Given the description of an element on the screen output the (x, y) to click on. 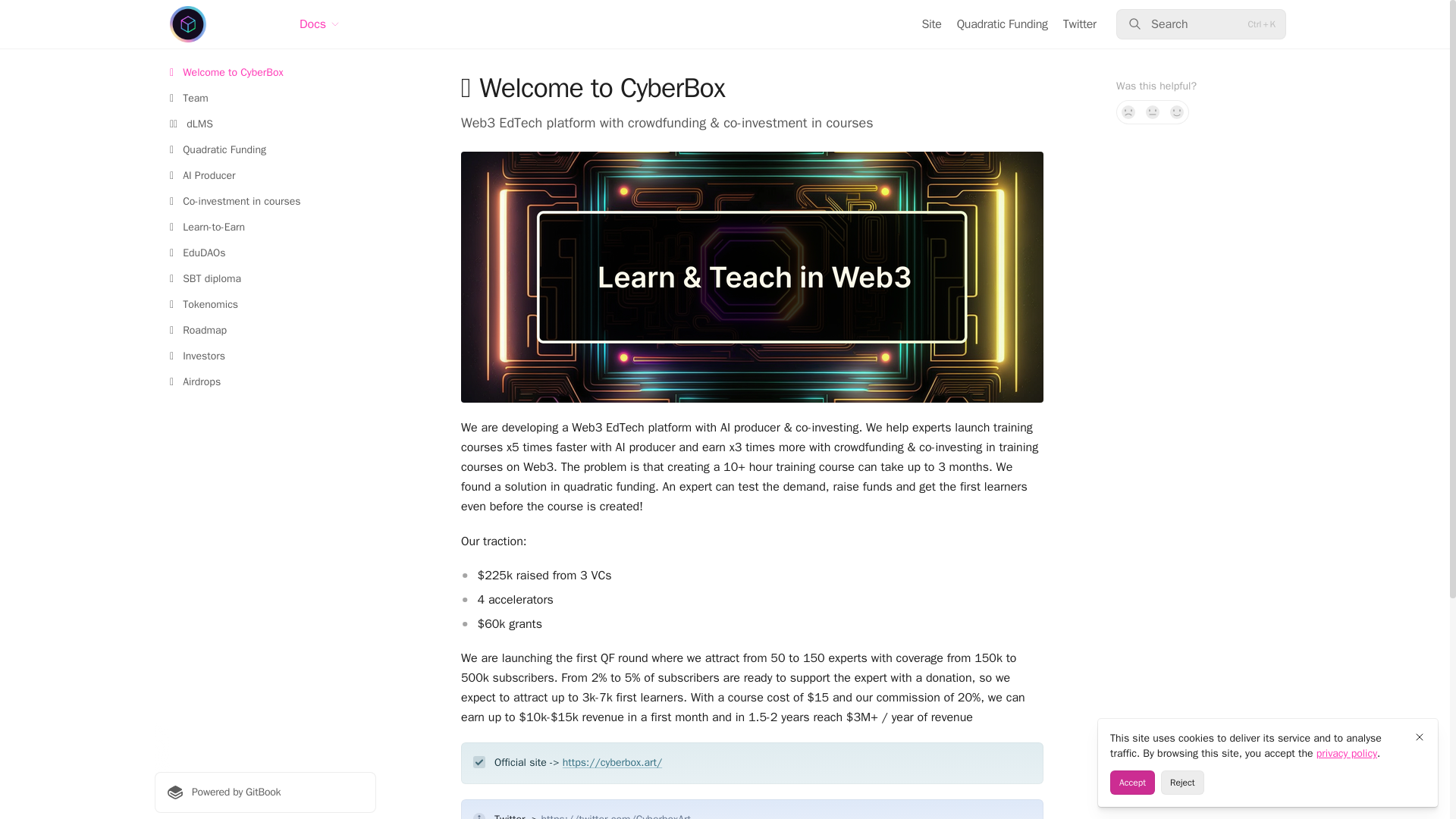
Powered by GitBook (264, 792)
No (1128, 111)
Not sure (1152, 111)
Close (1419, 737)
Yes, it was! (1176, 111)
Quadratic Funding (1002, 24)
